Given the description of an element on the screen output the (x, y) to click on. 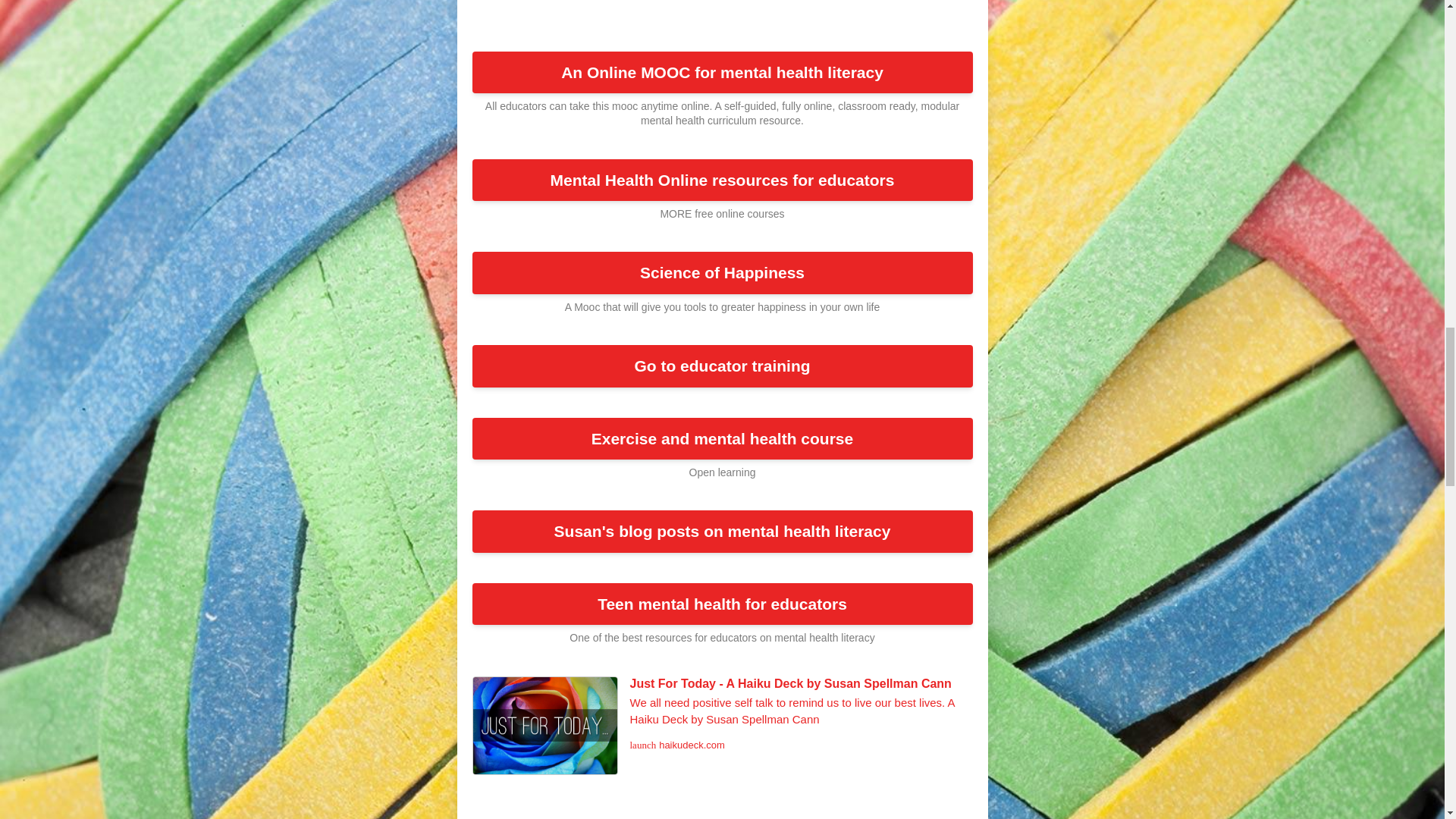
Science of Happiness (721, 272)
An Online MOOC for mental health literacy (721, 72)
Mental Health Online resources for educators (721, 179)
Exercise and mental health course (721, 437)
Susan's blog posts on mental health literacy (721, 531)
Teen mental health for educators (721, 604)
Go to educator training (721, 365)
